Given the description of an element on the screen output the (x, y) to click on. 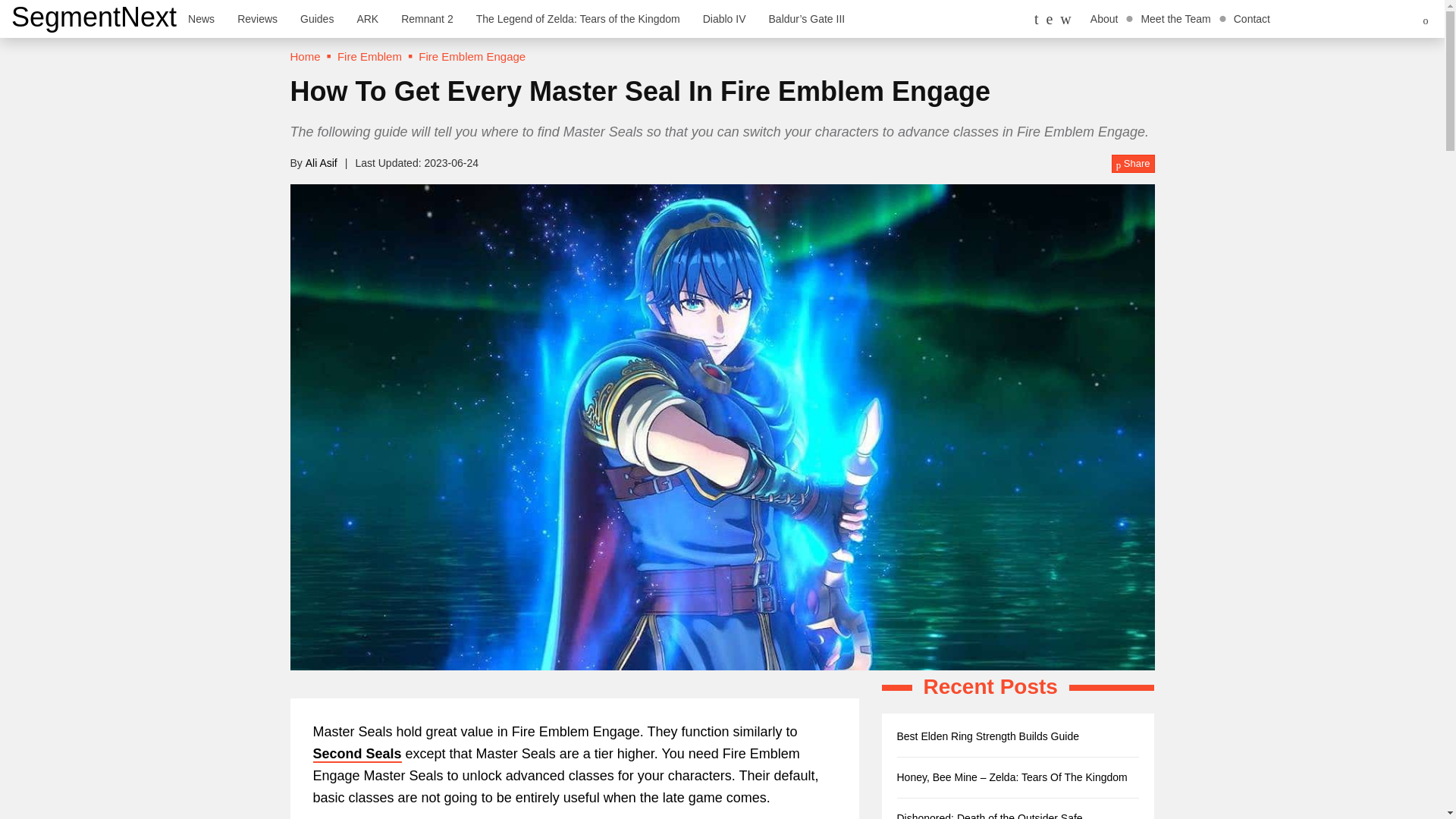
Diablo IV (724, 18)
Reviews (256, 18)
Meet the Team (1175, 18)
The Legend of Zelda: Tears of the Kingdom (577, 18)
Ali Asif (321, 162)
SegmentNext (93, 16)
Baldur's Gate III (807, 18)
News (200, 18)
Meet the Team (1175, 18)
Fire Emblem Engage (472, 56)
Contact (1252, 18)
Contact (1252, 18)
About (1103, 18)
ARK (367, 18)
News (200, 18)
